Given the description of an element on the screen output the (x, y) to click on. 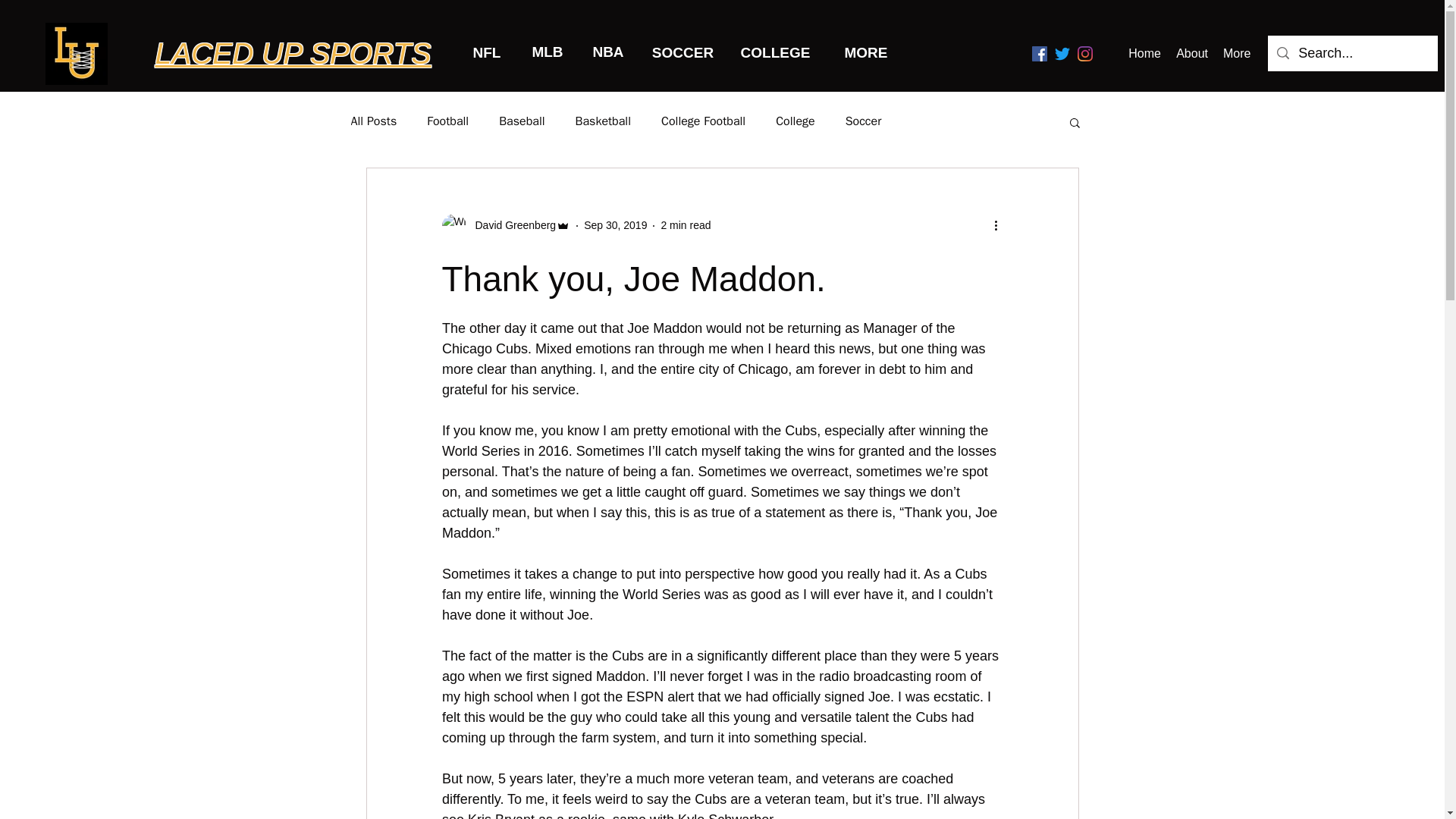
More (1236, 53)
LACED UP SPORTS (292, 52)
Soccer (863, 121)
College Football (703, 121)
2 min read (685, 224)
College (794, 121)
All Posts (373, 121)
David Greenberg (505, 225)
NFL (486, 53)
About (1192, 53)
Baseball (521, 121)
Football (447, 121)
Basketball (602, 121)
MORE (866, 53)
NBA (608, 52)
